Given the description of an element on the screen output the (x, y) to click on. 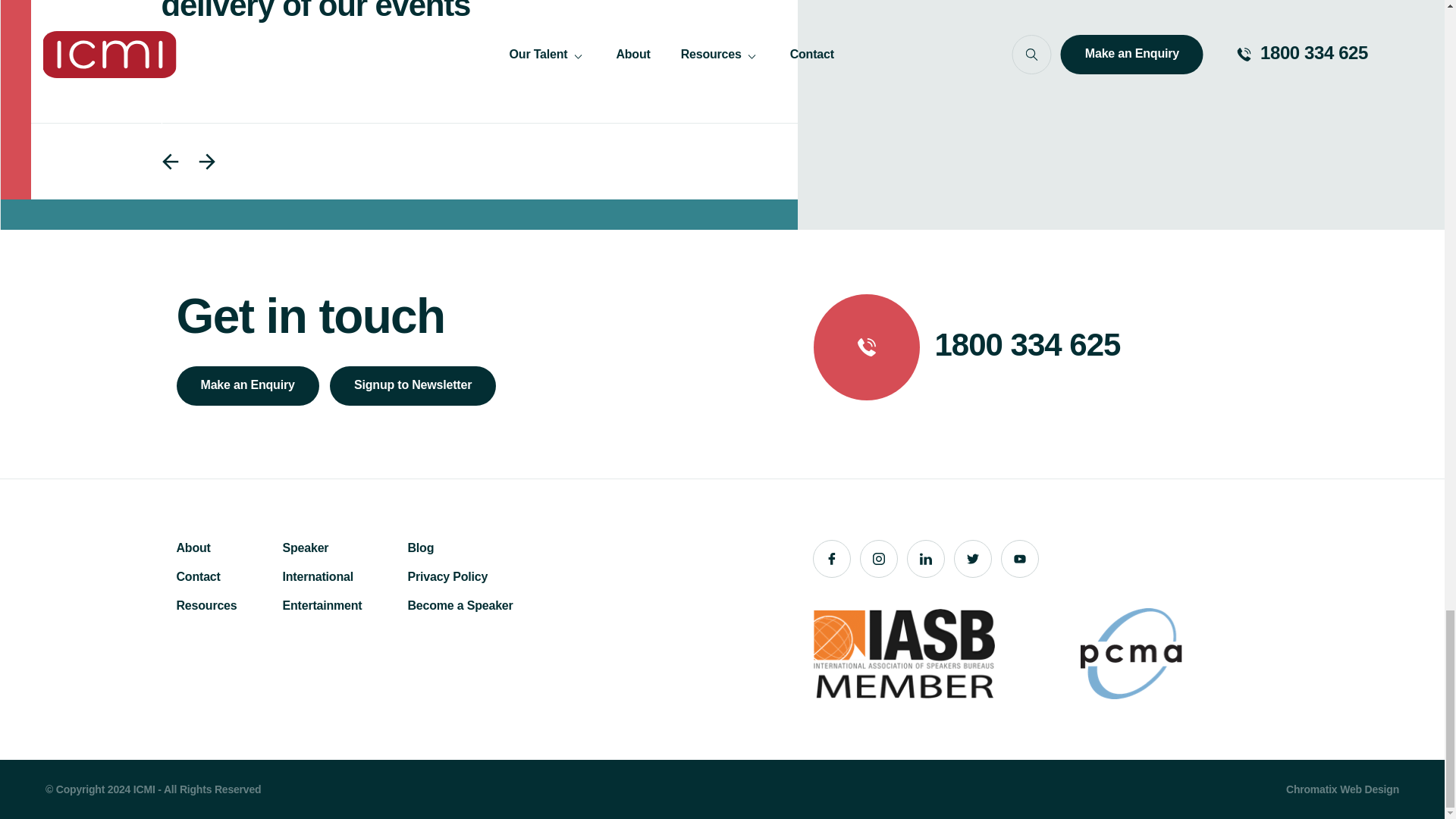
IASB Logo (903, 653)
PCMA Logo (1132, 653)
